Given the description of an element on the screen output the (x, y) to click on. 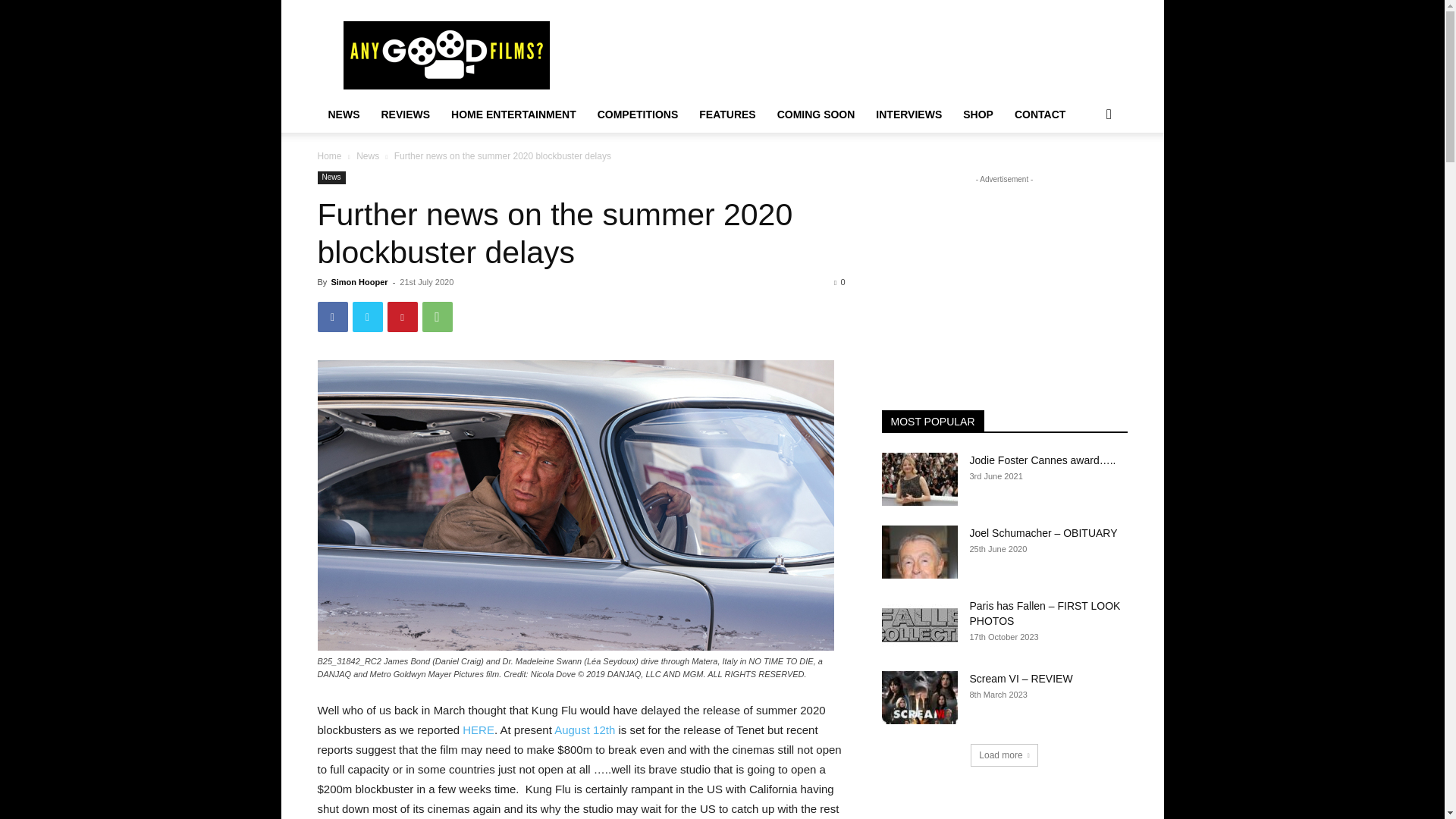
NEWS (343, 114)
REVIEWS (405, 114)
Simon Hooper (358, 281)
WhatsApp (436, 317)
Home (328, 155)
News (367, 155)
Search (1085, 174)
Twitter (366, 317)
CONTACT (1039, 114)
News (331, 177)
Pinterest (401, 317)
View all posts in News (367, 155)
